Given the description of an element on the screen output the (x, y) to click on. 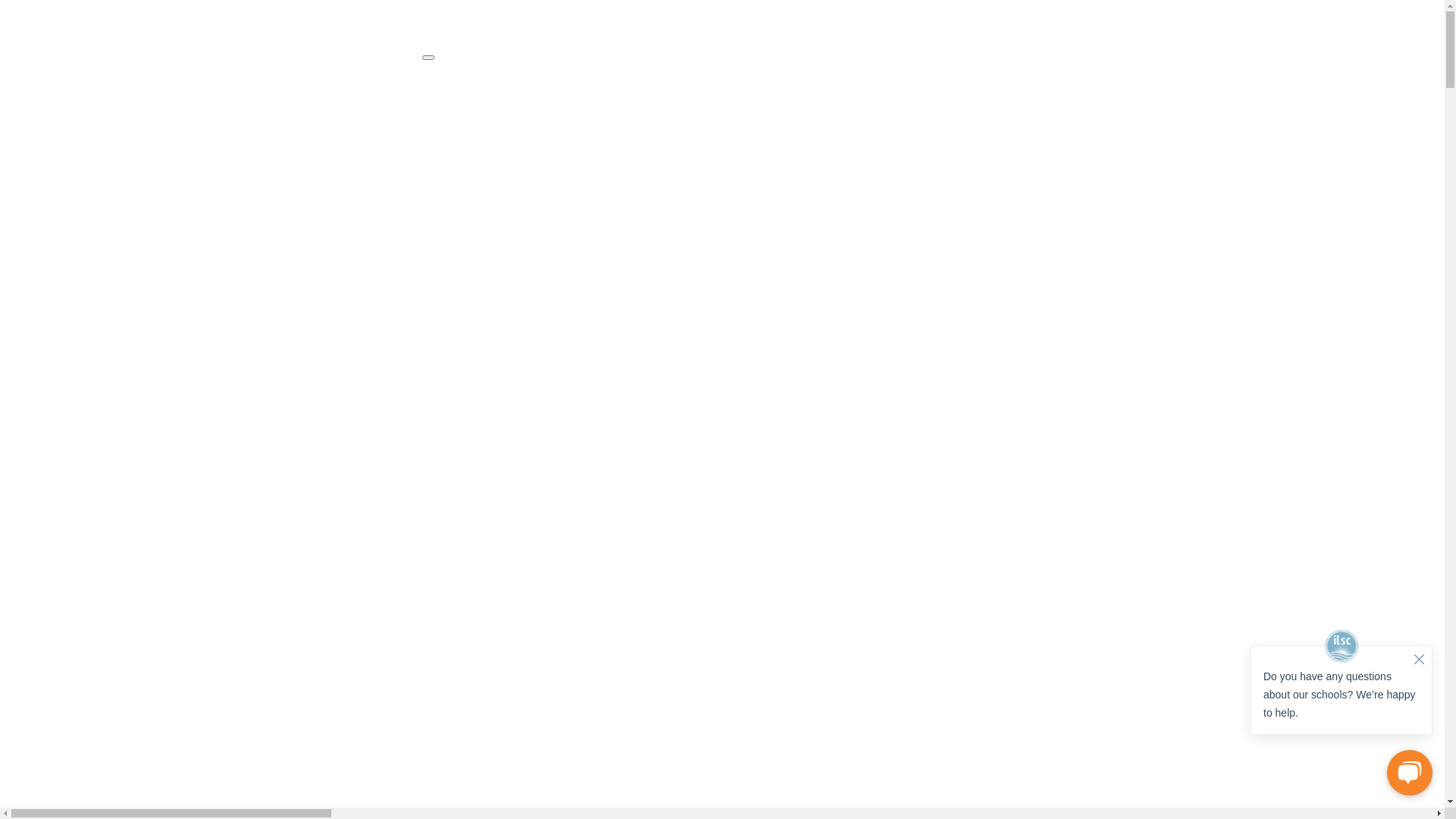
Destinations Element type: text (721, 79)
